Given the description of an element on the screen output the (x, y) to click on. 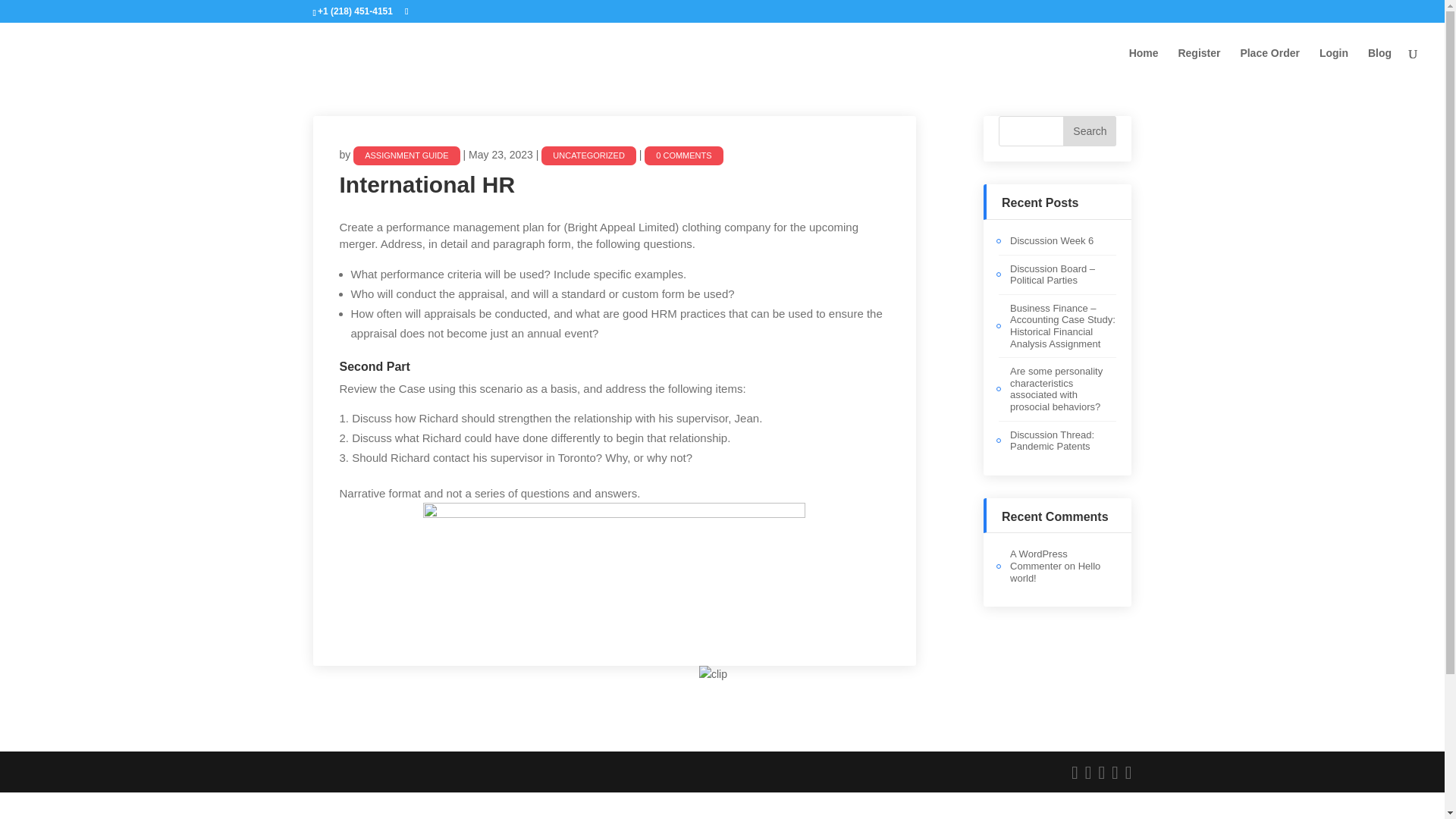
Place Order (1270, 65)
ASSIGNMENT GUIDE (597, 249)
Posts by Assignment Guide (406, 155)
Posts by Assignment Guide (597, 249)
Search (1089, 131)
UNCATEGORIZED (588, 155)
A WordPress Commenter (1038, 559)
Discussion Week 6 (1051, 240)
Register (1198, 65)
